Given the description of an element on the screen output the (x, y) to click on. 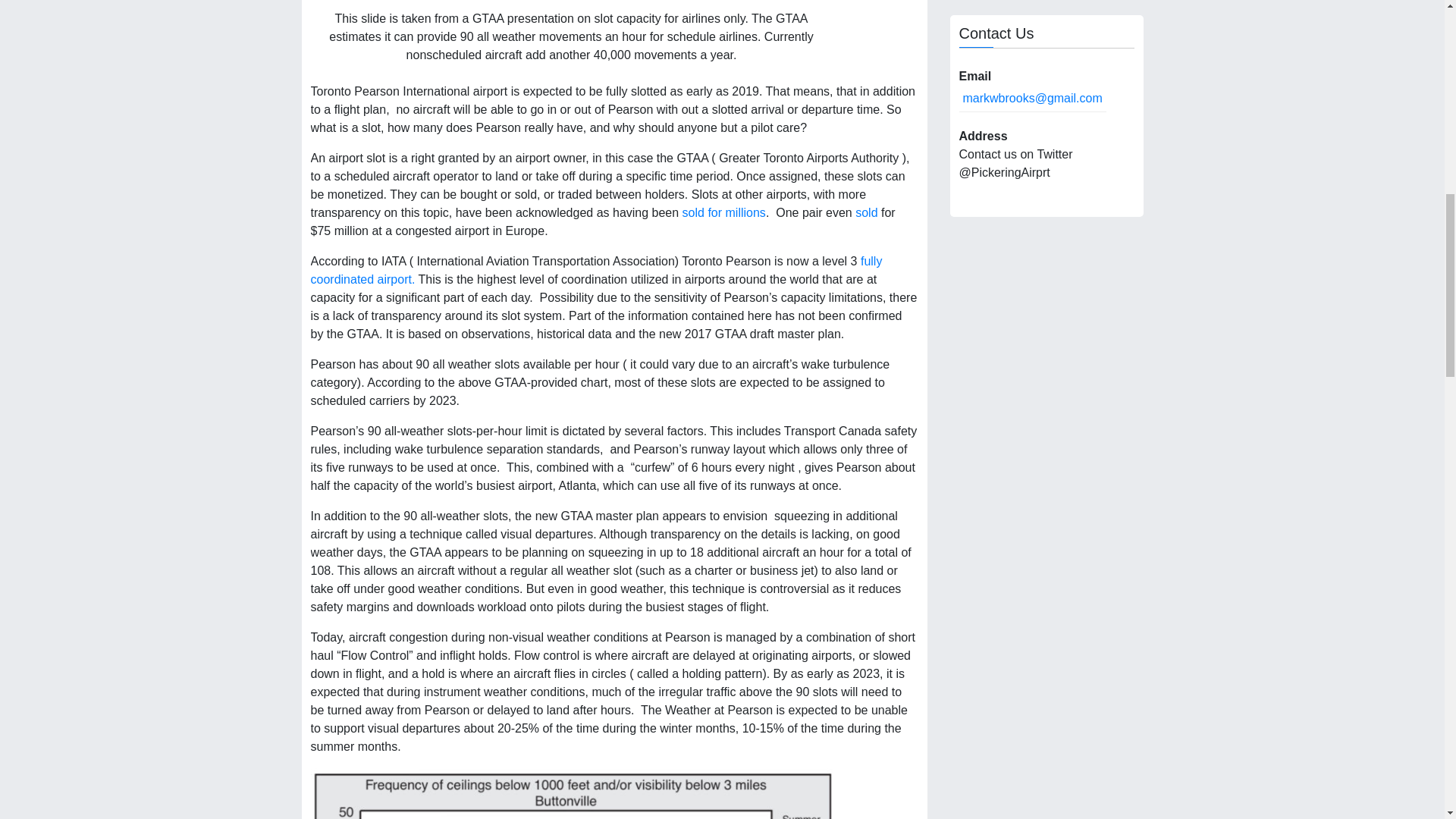
fully coordinated airport. (596, 269)
sold for millions (723, 212)
sold (866, 212)
